Given the description of an element on the screen output the (x, y) to click on. 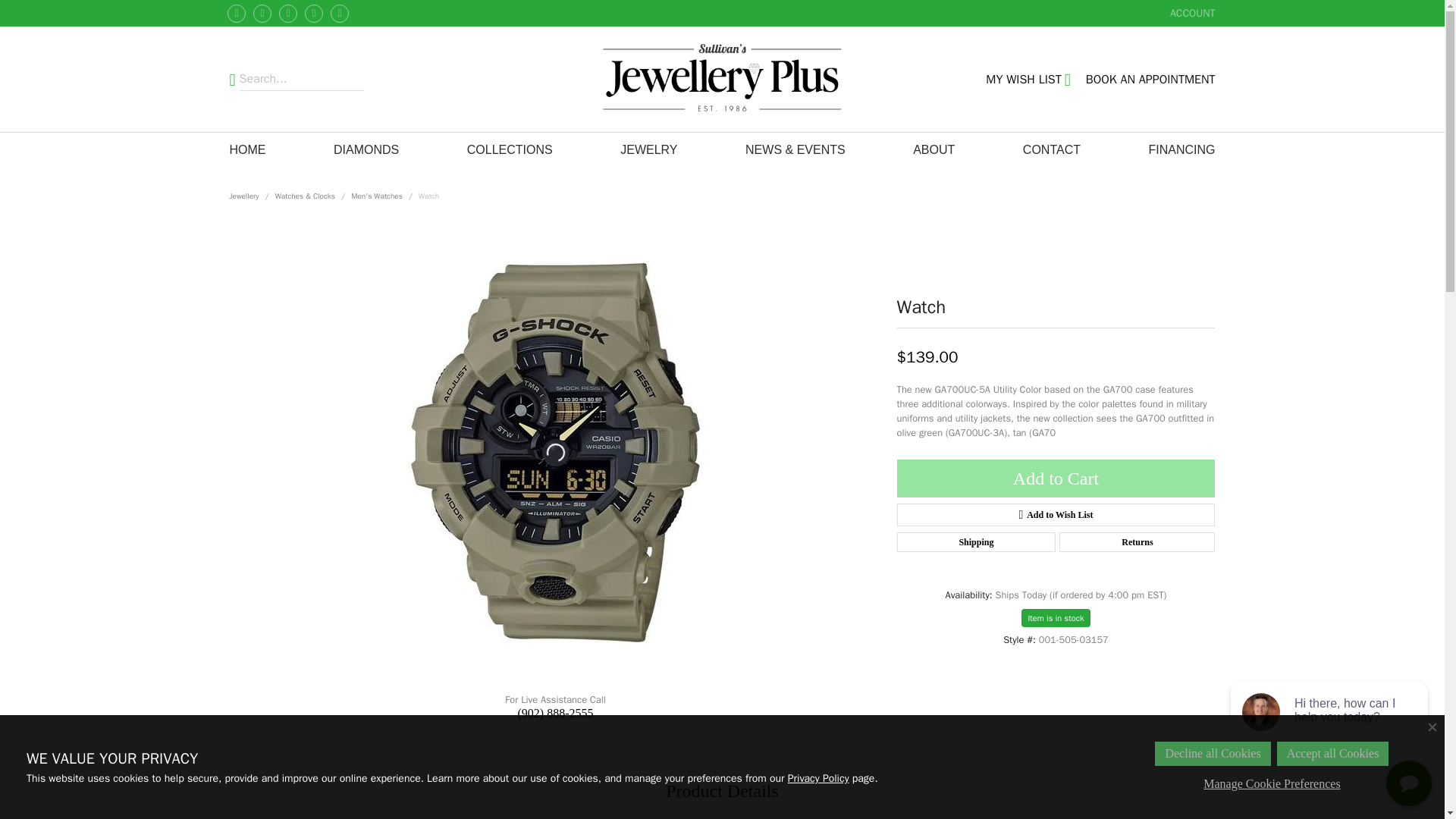
HOME (246, 149)
Follow us on twitter (288, 13)
Follow us on pinterest (236, 13)
Follow us on YouTube (339, 13)
Follow us on instagram (1150, 78)
Visit Jewellery Plus on Facebook (261, 13)
COLLECTIONS (313, 13)
Skip to main content (510, 149)
DIAMONDS (1192, 13)
